Given the description of an element on the screen output the (x, y) to click on. 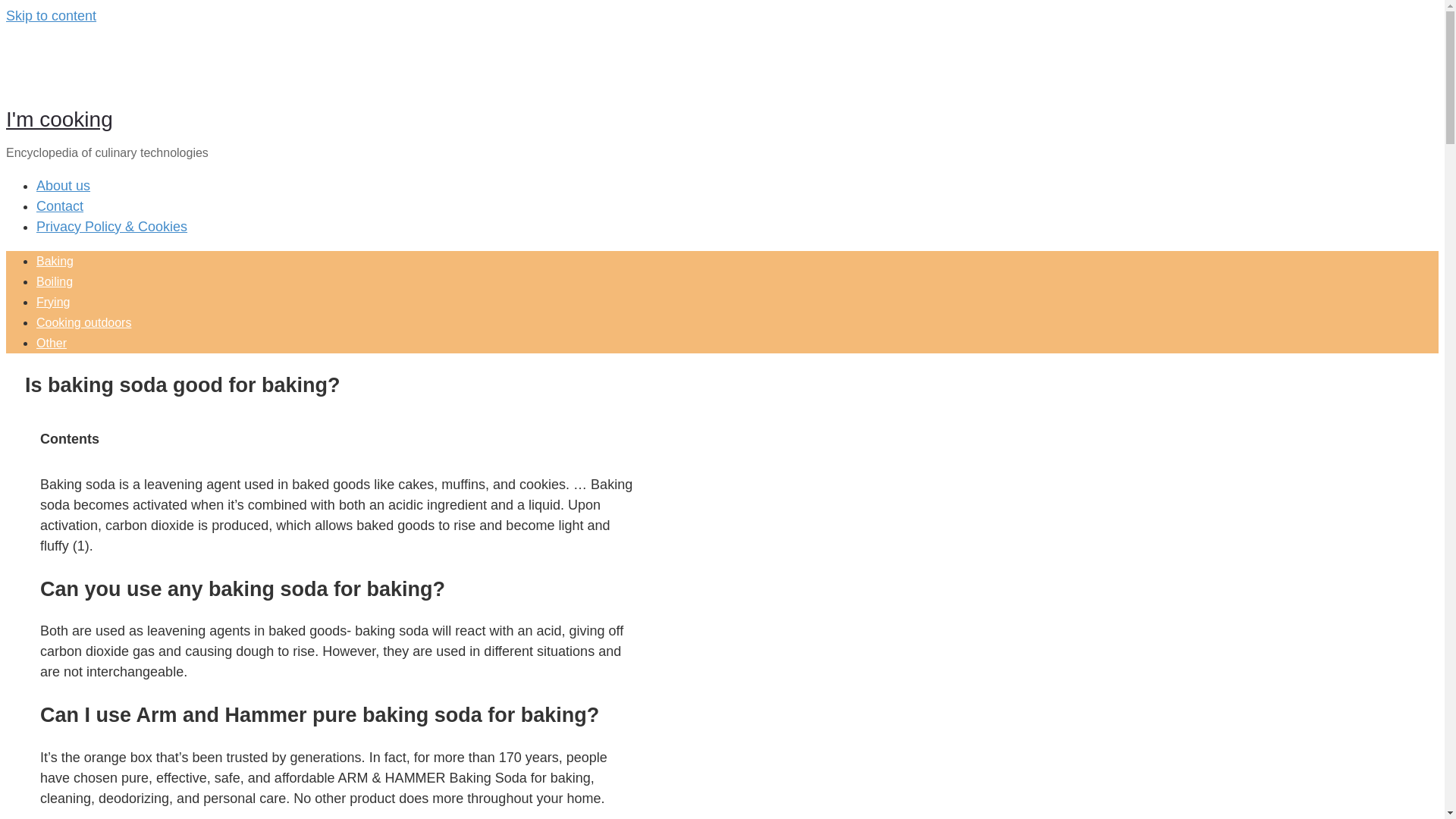
Contact (59, 206)
Frying (52, 301)
About us (63, 185)
Baking (55, 260)
I'm cooking (59, 119)
Boiling (54, 281)
Other (51, 342)
Skip to content (50, 15)
